Given the description of an element on the screen output the (x, y) to click on. 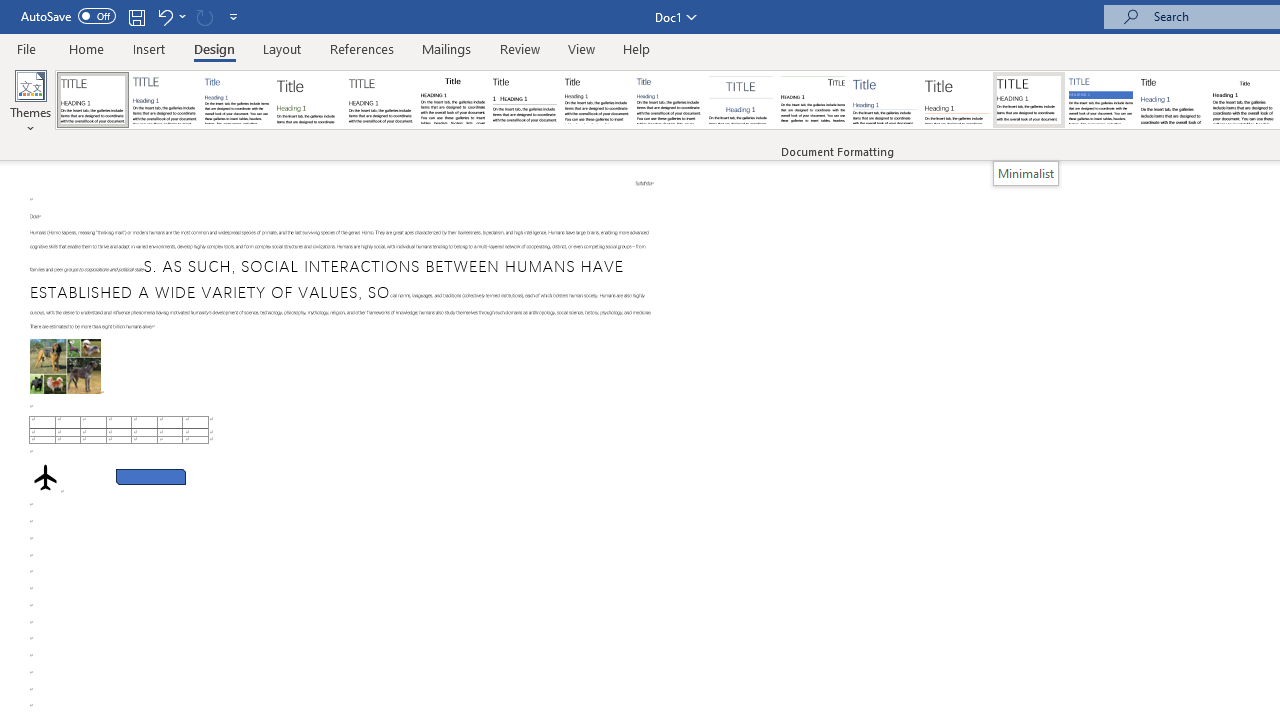
Black & White (Capitalized) (381, 100)
Lines (Simple) (884, 100)
Word (1172, 100)
Minimalist (1025, 173)
Airplane with solid fill (45, 475)
Can't Repeat (204, 15)
Undo Paragraph Alignment (170, 15)
Undo Paragraph Alignment (164, 15)
Rectangle: Diagonal Corners Snipped 2 (150, 473)
